Given the description of an element on the screen output the (x, y) to click on. 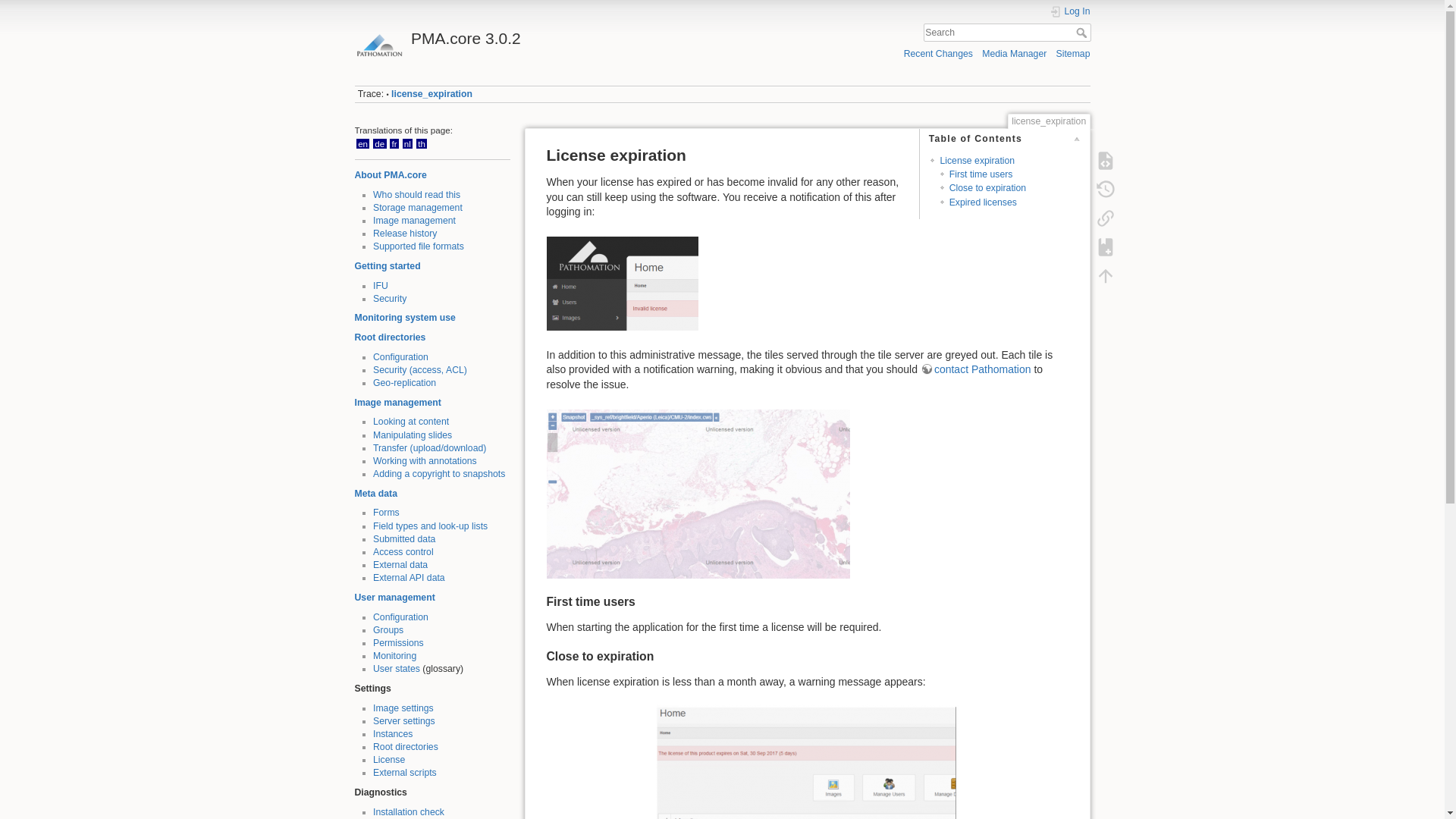
Forms (385, 511)
About PMA.core (390, 174)
Geo-replication (403, 382)
Field types and look-up lists (429, 525)
External data (400, 564)
Manipulating slides (411, 434)
Supported file formats (418, 245)
Deutsch (379, 143)
Release history (404, 233)
Looking at content (410, 421)
Storage management (417, 207)
English (362, 143)
Submitted data (403, 538)
Security (389, 298)
nl (408, 143)
